Given the description of an element on the screen output the (x, y) to click on. 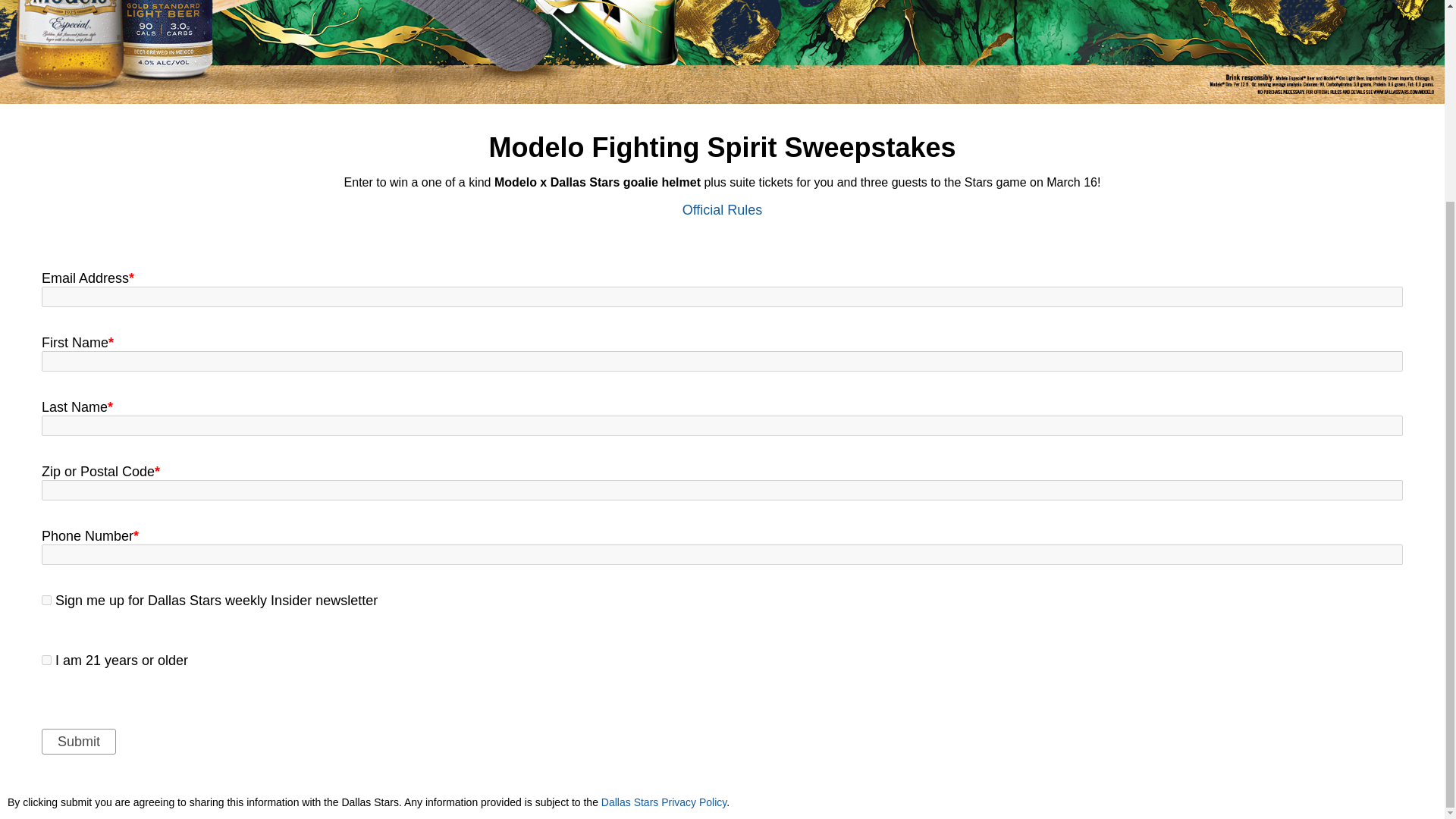
Dallas Stars Privacy Policy (663, 802)
on (46, 600)
on (46, 660)
Official Rules (722, 209)
Submit (79, 741)
